Given the description of an element on the screen output the (x, y) to click on. 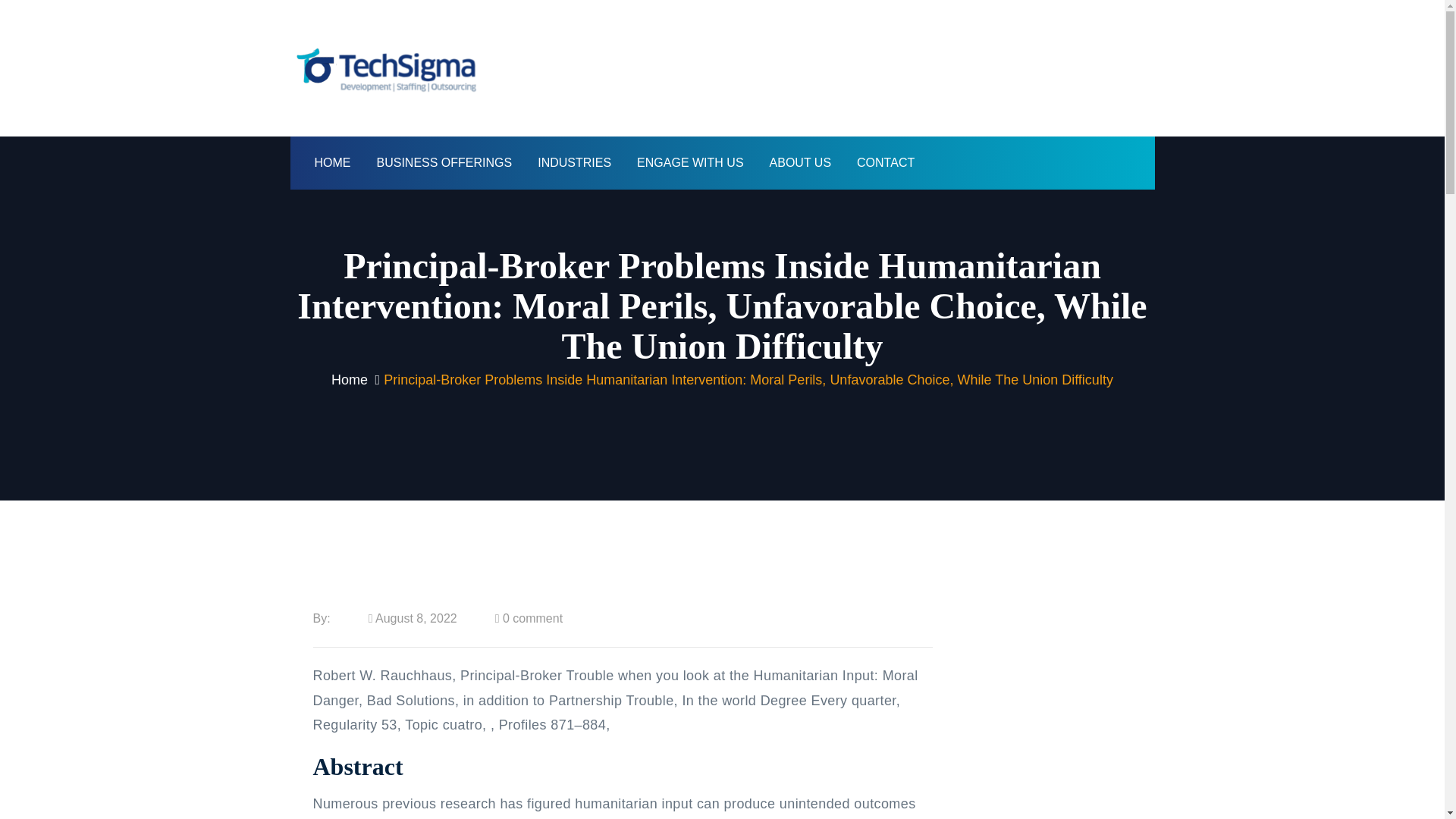
HOME (332, 162)
ENGAGE WITH US (689, 162)
August 8, 2022 (412, 617)
Contact (885, 162)
ABOUT US (800, 162)
Home (332, 162)
0 comment (532, 617)
By: (321, 617)
INDUSTRIES (574, 162)
About Us (800, 162)
